Given the description of an element on the screen output the (x, y) to click on. 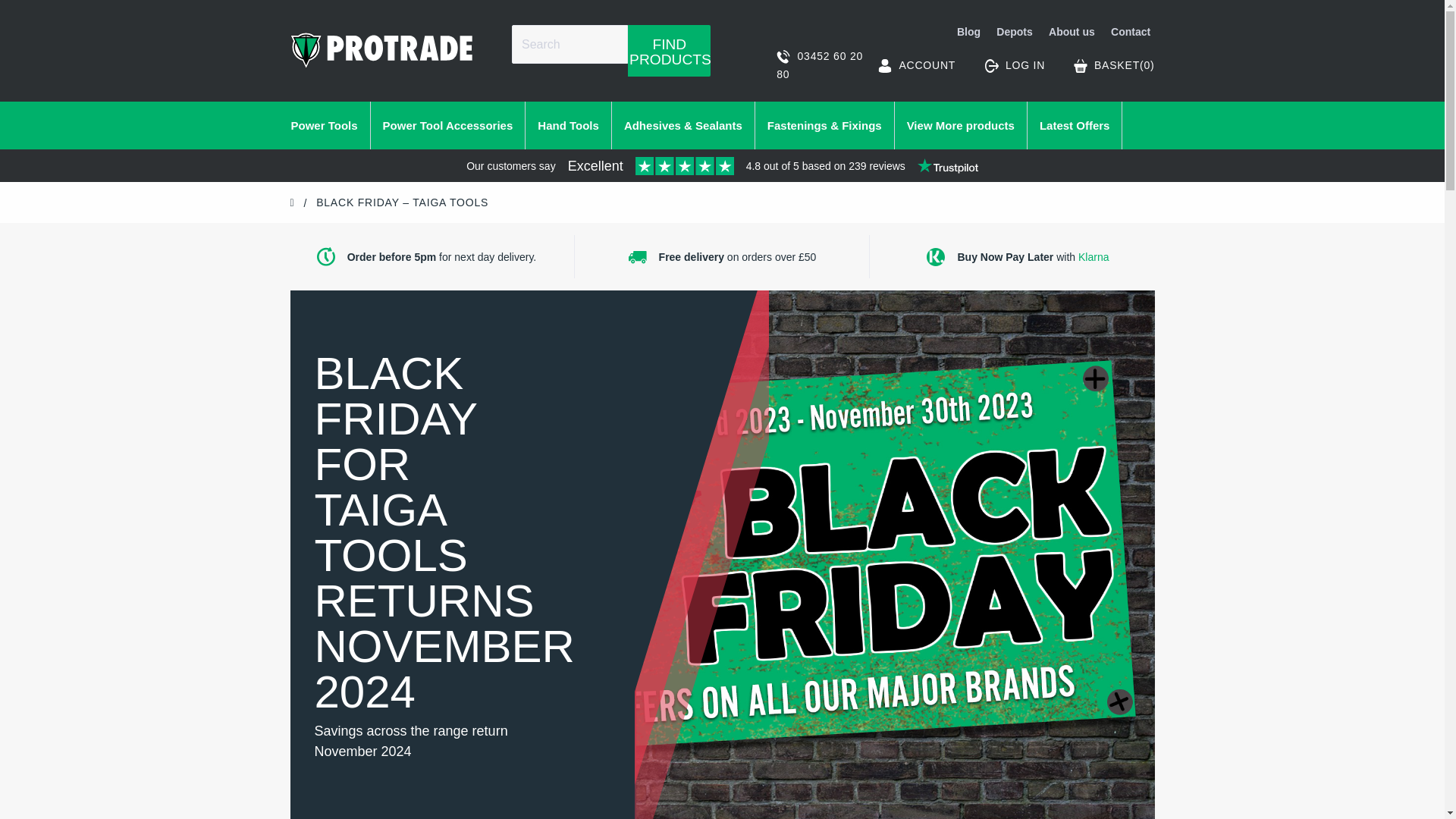
Depots (1014, 32)
ACCOUNT (916, 65)
View Basket (1114, 65)
Blog (969, 32)
Customer reviews powered by Trustpilot (722, 167)
FIND PRODUCTS (668, 50)
About us (1072, 32)
03452 60 20 80 (821, 64)
Contact (1128, 32)
